Given the description of an element on the screen output the (x, y) to click on. 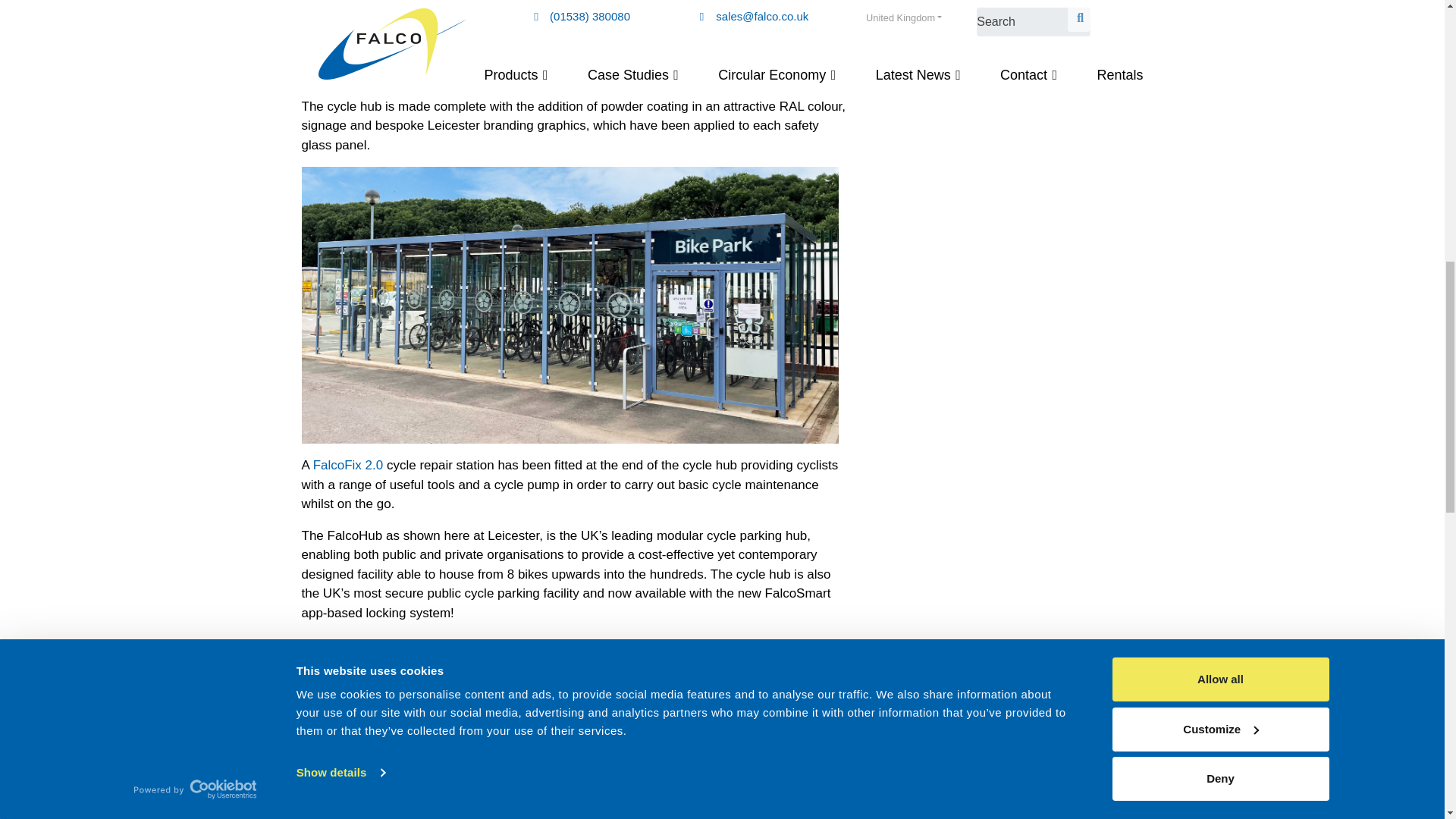
two-tier cycle parking (737, 35)
